Given the description of an element on the screen output the (x, y) to click on. 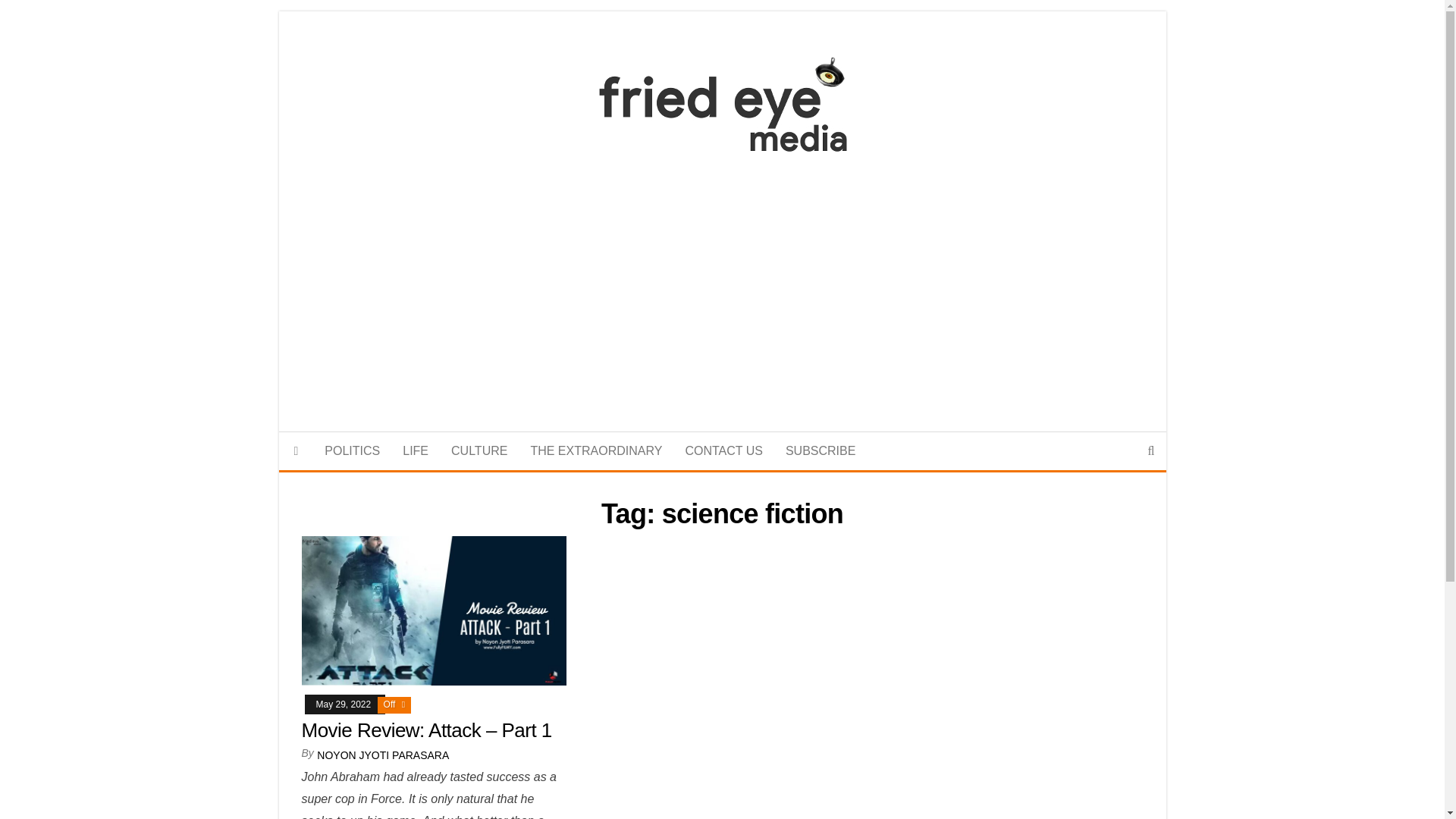
SUBSCRIBE (820, 451)
SUBSCRIBE (820, 451)
CULTURE (478, 451)
POLITICS (352, 451)
CONTACT US (723, 451)
LIFE (415, 451)
NOYON JYOTI PARASARA (382, 755)
THE EXTRAORDINARY (595, 451)
